Given the description of an element on the screen output the (x, y) to click on. 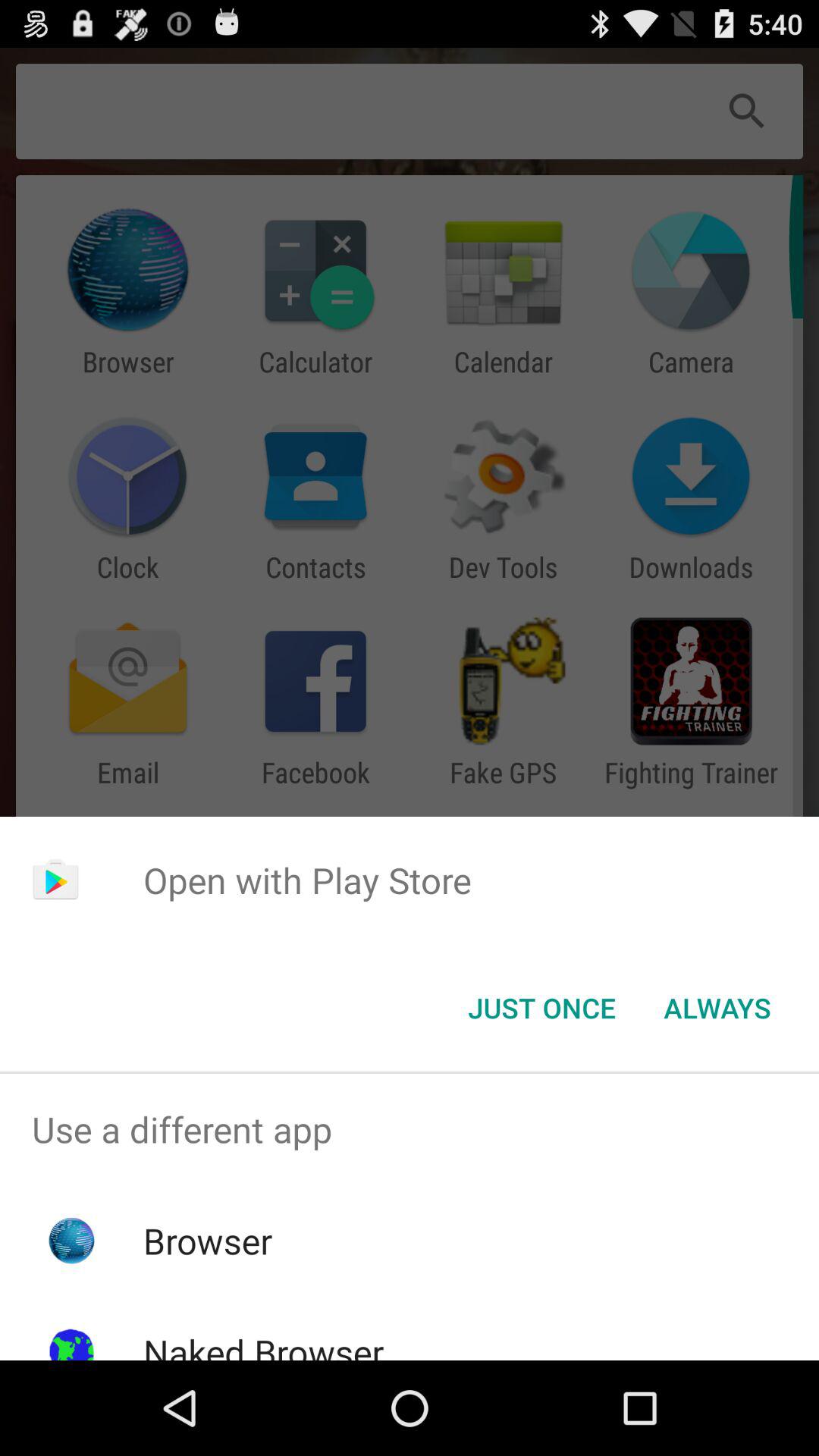
launch the just once item (541, 1007)
